Given the description of an element on the screen output the (x, y) to click on. 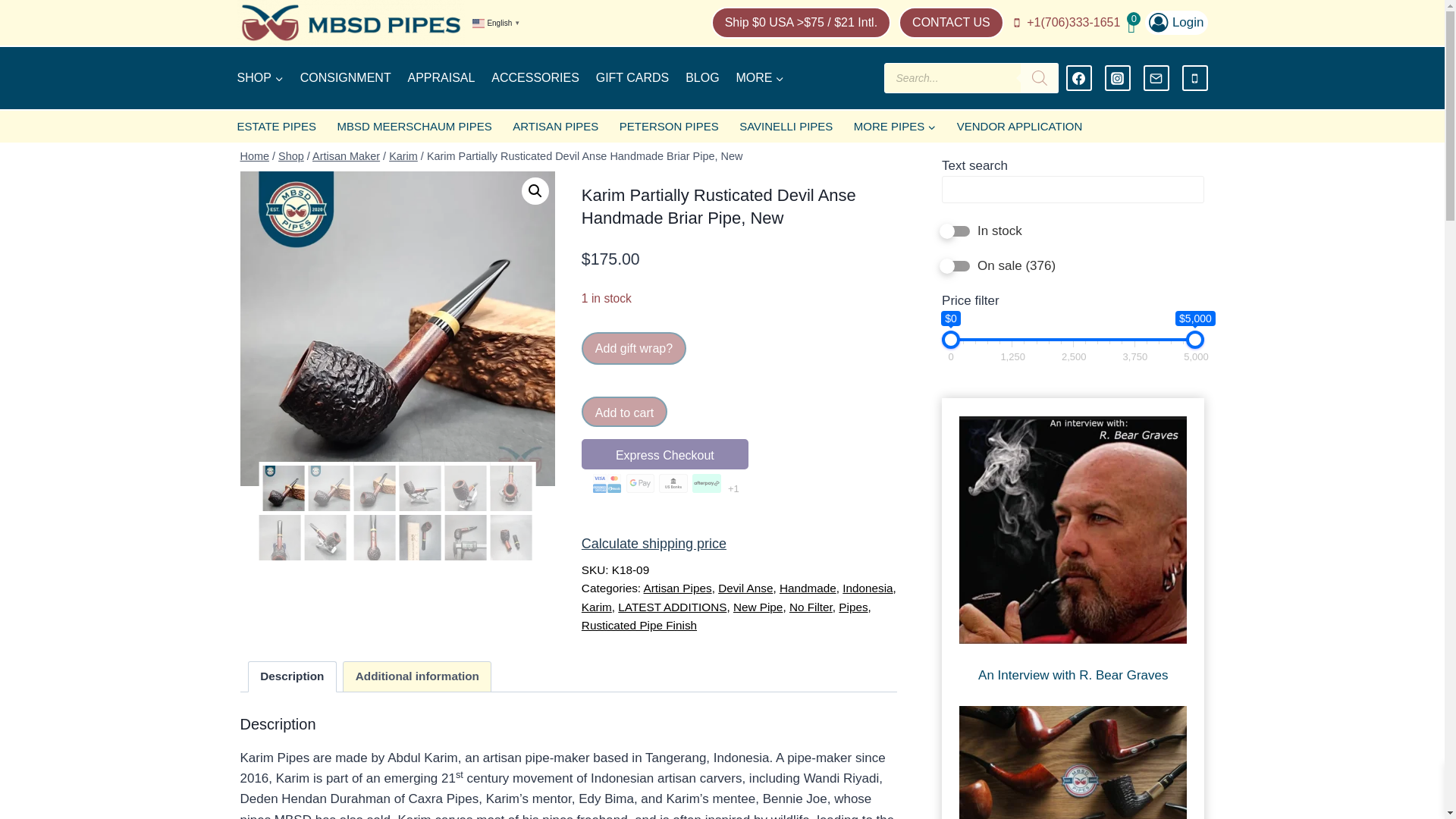
MORE (759, 78)
CONTACT US (951, 22)
BLOG (702, 78)
GIFT CARDS (632, 78)
Estate-Briar-Pipe-01 (397, 328)
APPRAISAL (441, 78)
SHOP (258, 78)
CONSIGNMENT (345, 78)
Login (1175, 22)
Estate-Briar-Pipe-01 (712, 328)
ACCESSORIES (535, 78)
